Given the description of an element on the screen output the (x, y) to click on. 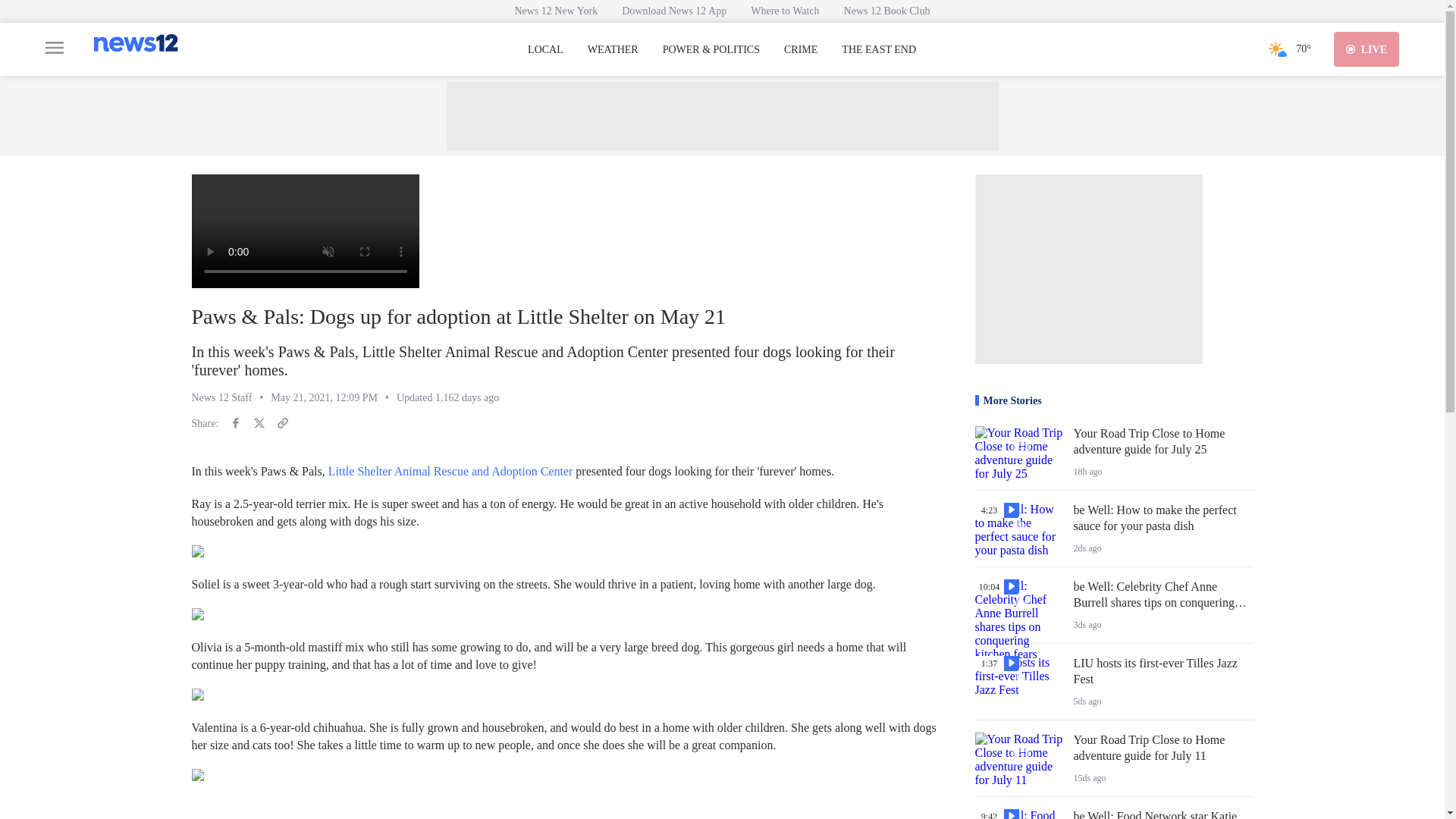
THE EAST END (878, 49)
News 12 Book Club (886, 11)
Download News 12 App (673, 11)
WEATHER (613, 49)
LIVE (1366, 48)
Where to Watch (784, 11)
CRIME (800, 49)
Fair or Mostly Sunny (1277, 48)
News 12 New York (556, 11)
LOCAL (545, 49)
